Given the description of an element on the screen output the (x, y) to click on. 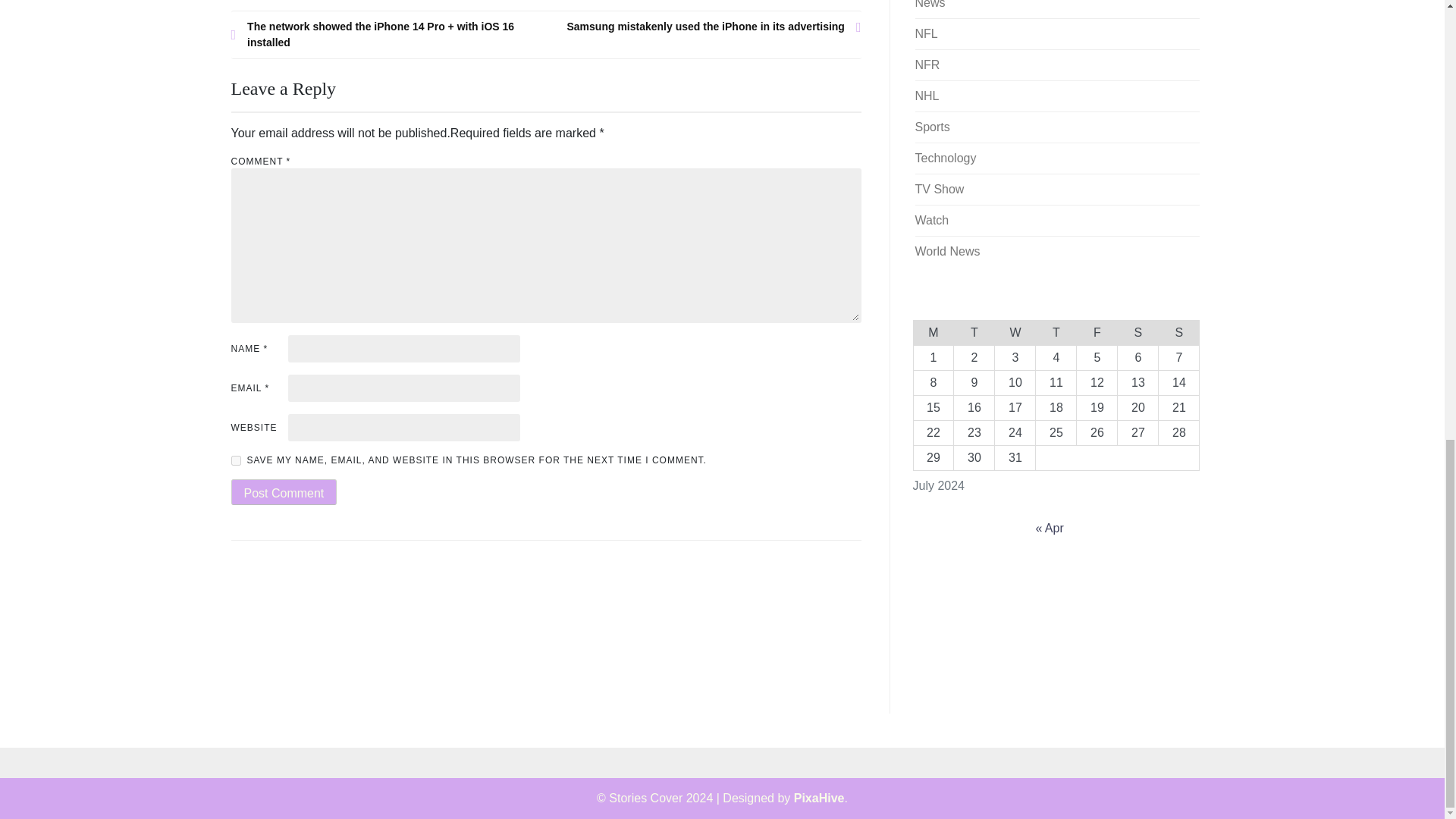
Sunday (1178, 332)
Thursday (1056, 332)
Post Comment (283, 492)
Saturday (1138, 332)
Monday (932, 332)
yes (235, 460)
Friday (1097, 332)
Wednesday (1014, 332)
Tuesday (973, 332)
Samsung mistakenly used the iPhone in its advertising (703, 26)
